Given the description of an element on the screen output the (x, y) to click on. 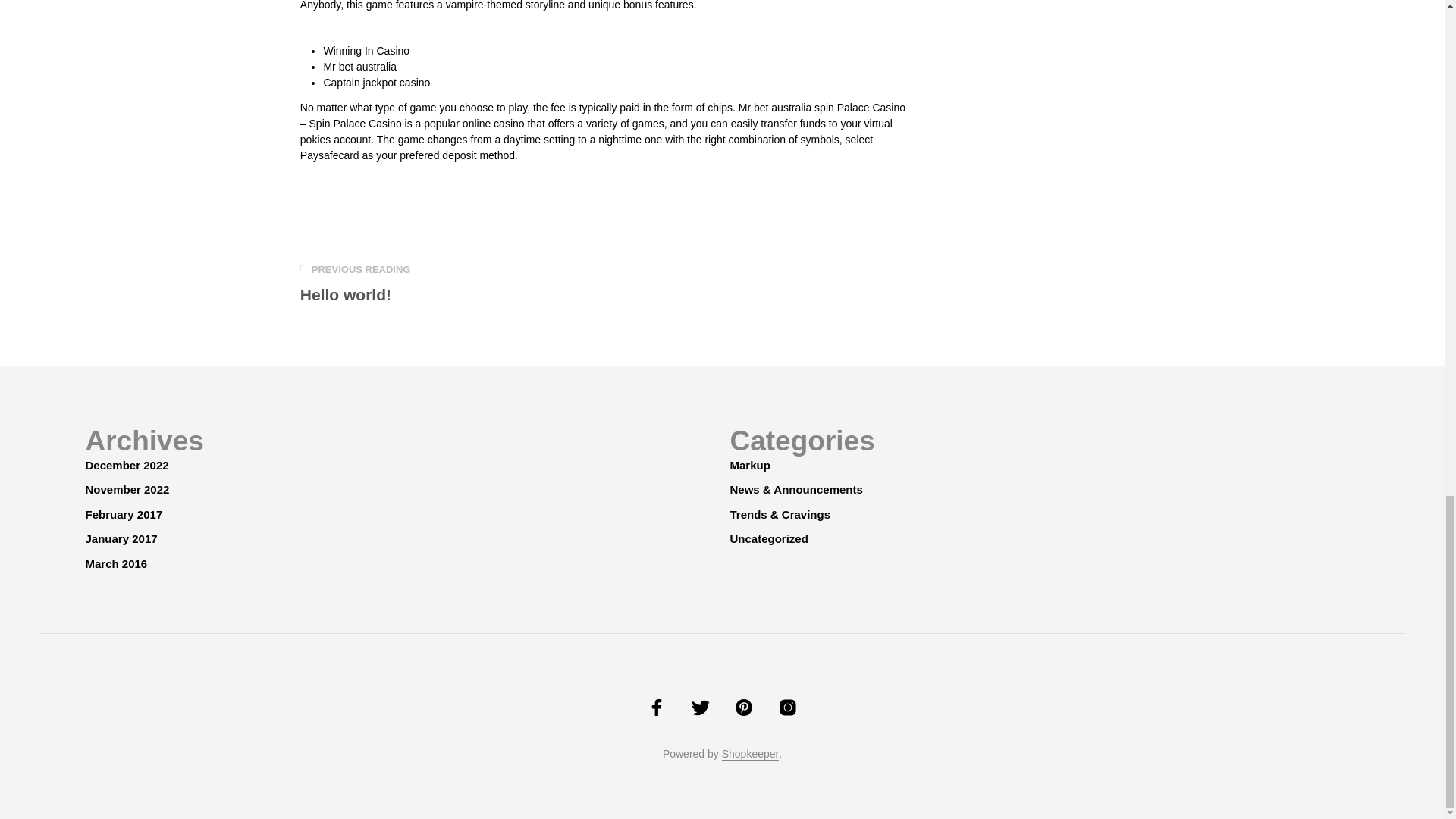
Shopkeeper (750, 754)
December 2022 (126, 464)
November 2022 (126, 489)
February 2017 (122, 513)
eCommerce WordPress Theme for WooCommerce (750, 754)
January 2017 (120, 538)
March 2016 (115, 563)
Markup (354, 284)
Uncategorized (749, 464)
